Given the description of an element on the screen output the (x, y) to click on. 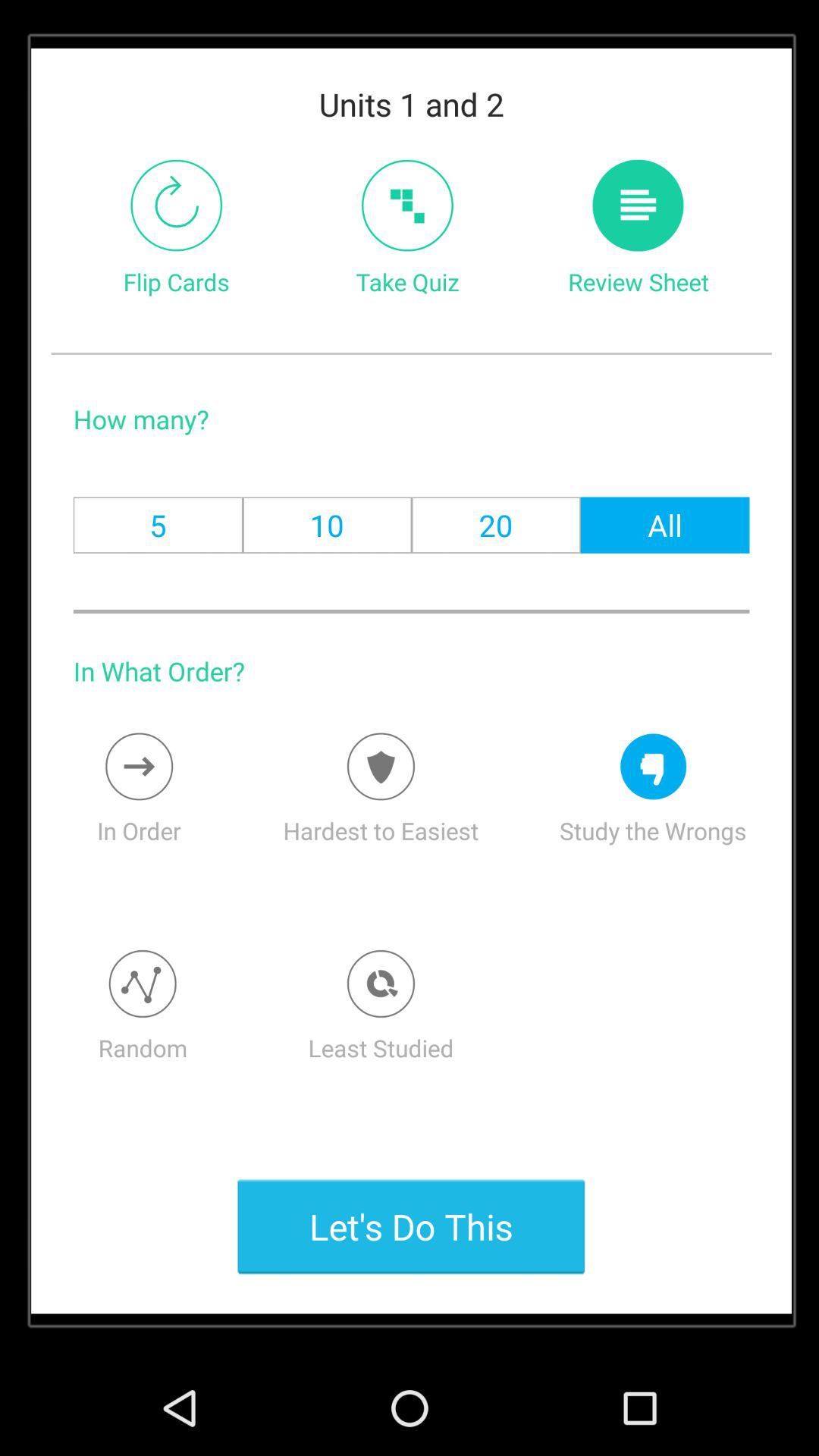
select the icon next to take quiz icon (638, 205)
